Given the description of an element on the screen output the (x, y) to click on. 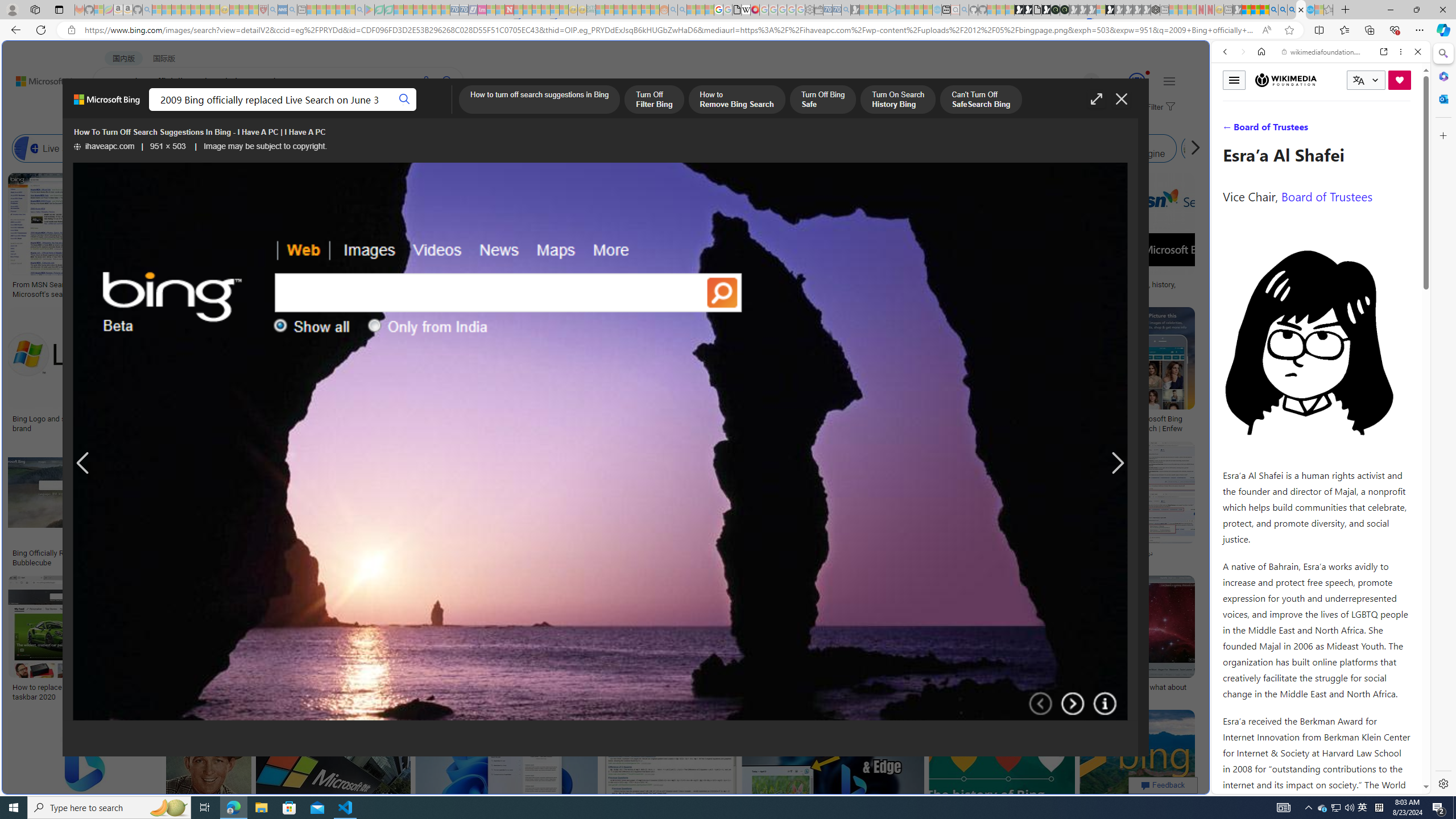
Wikimedia Foundation (1286, 79)
Bing Voice Search (156, 148)
utah sues federal government - Search - Sleeping (291, 9)
Remove the 'News & Interests' bar from Bing | TechLifeSave (863, 371)
MY BING (156, 111)
